Given the description of an element on the screen output the (x, y) to click on. 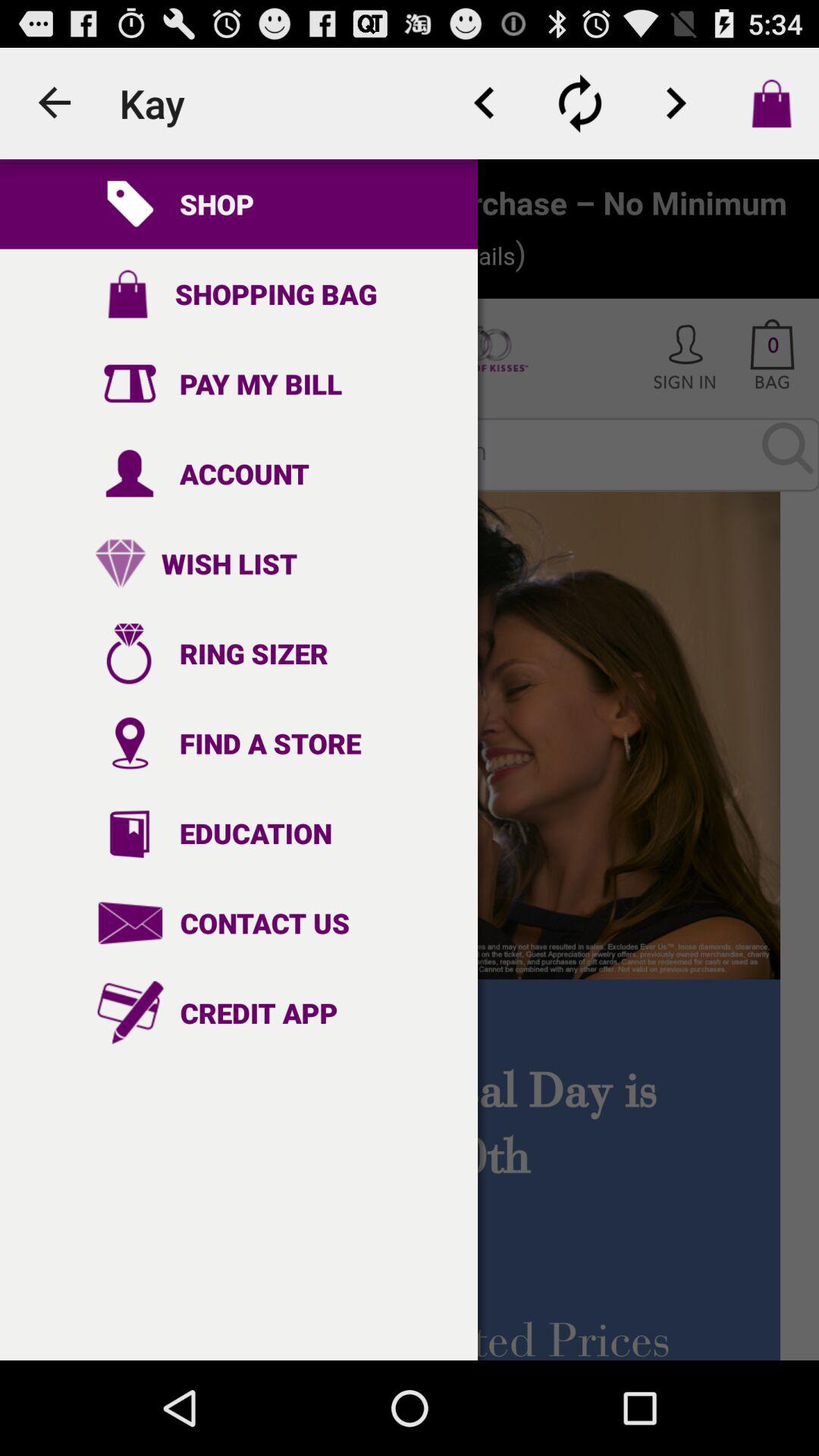
click on screen (409, 759)
